Given the description of an element on the screen output the (x, y) to click on. 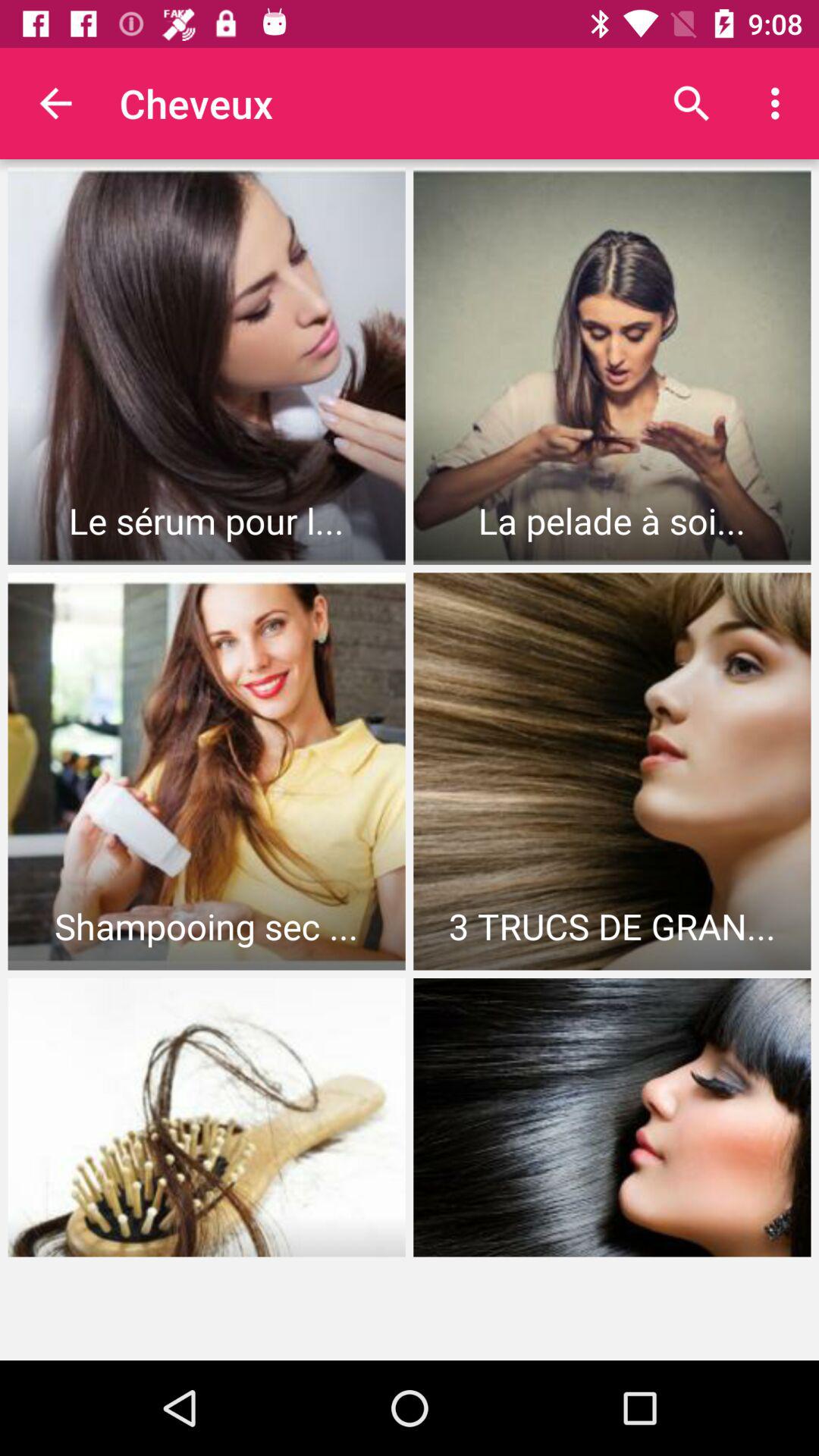
select the second image from top (612, 365)
select the first image in the second row (206, 771)
click on second icon at the top right corner (779, 103)
select first image which is below cheveux on left side of page (206, 365)
